Given the description of an element on the screen output the (x, y) to click on. 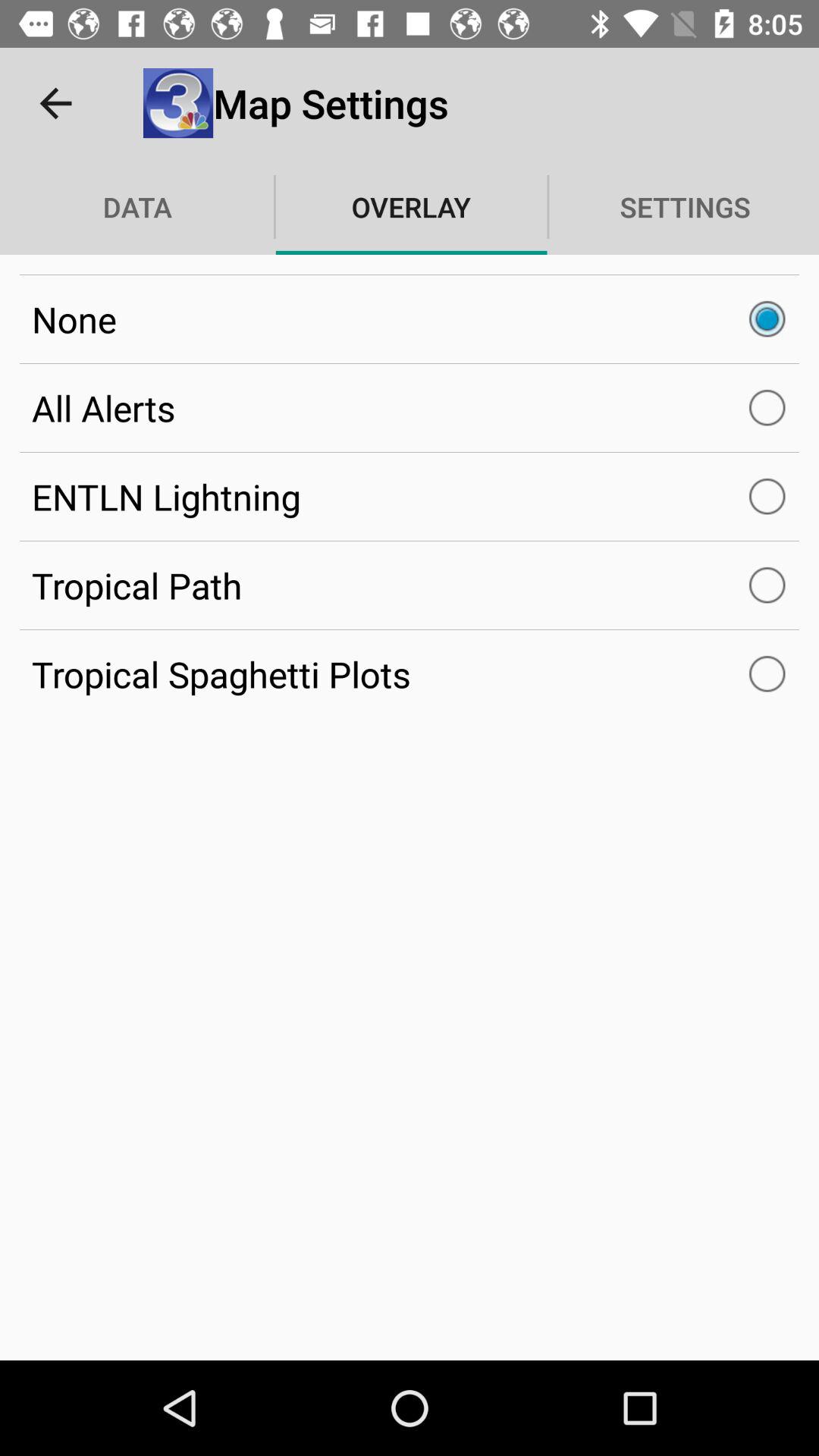
select the item below none (409, 408)
